Given the description of an element on the screen output the (x, y) to click on. 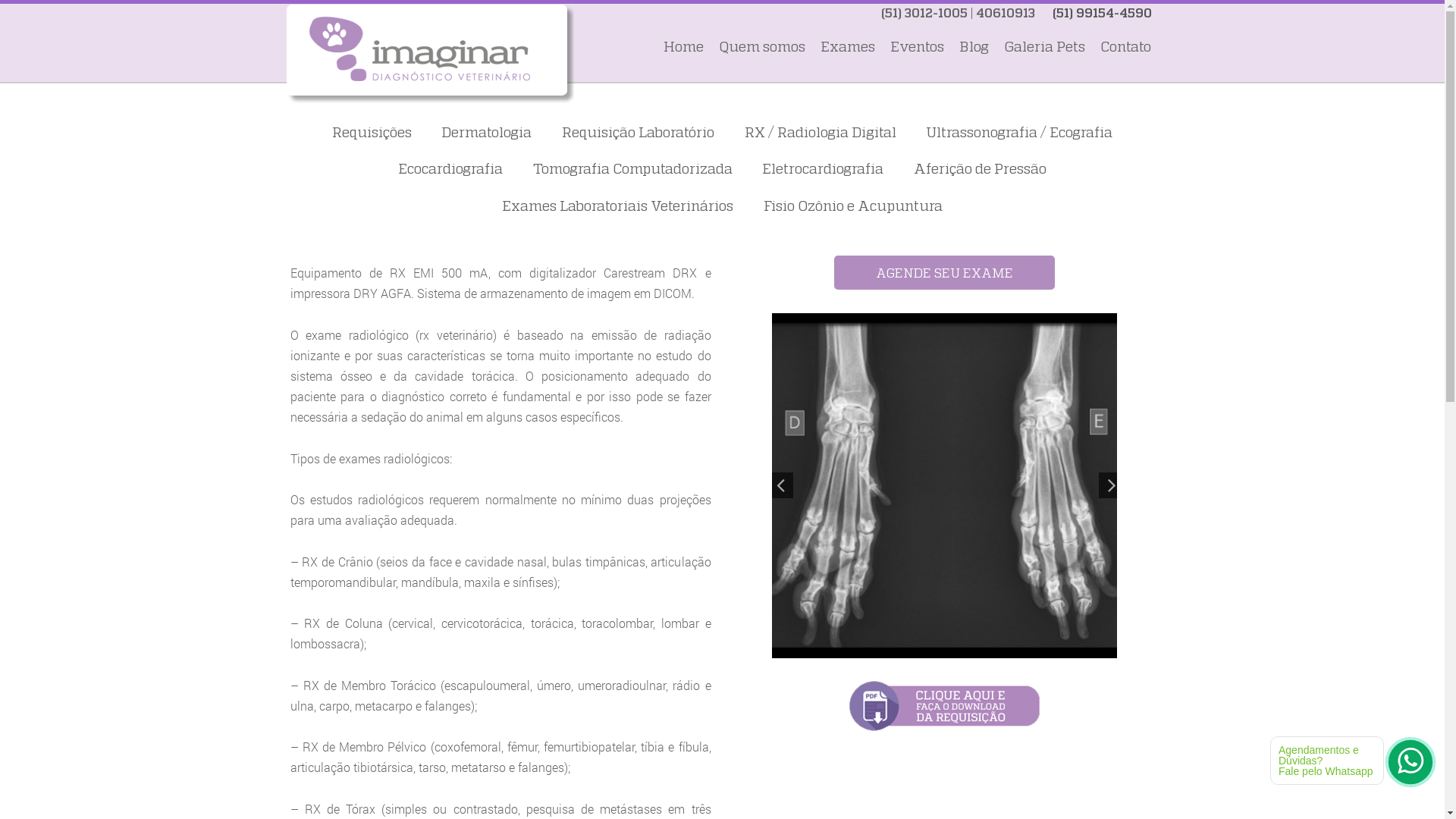
AGENDE SEU EXAME Element type: text (944, 272)
Blog Element type: text (973, 47)
Tomografia Computadorizada Element type: text (632, 168)
Galeria Pets Element type: text (1043, 47)
RX / Radiologia Digital Element type: text (820, 131)
Contato Element type: text (1125, 47)
Ecocardiografia Element type: text (450, 168)
Home Element type: text (683, 47)
Eventos Element type: text (916, 47)
(51) 99154-4590 Element type: text (1101, 12)
Eletrocardiografia Element type: text (822, 168)
Quem somos Element type: text (761, 47)
Exames Element type: text (846, 47)
Ultrassonografia / Ecografia Element type: text (1019, 131)
Dermatologia Element type: text (486, 131)
